Given the description of an element on the screen output the (x, y) to click on. 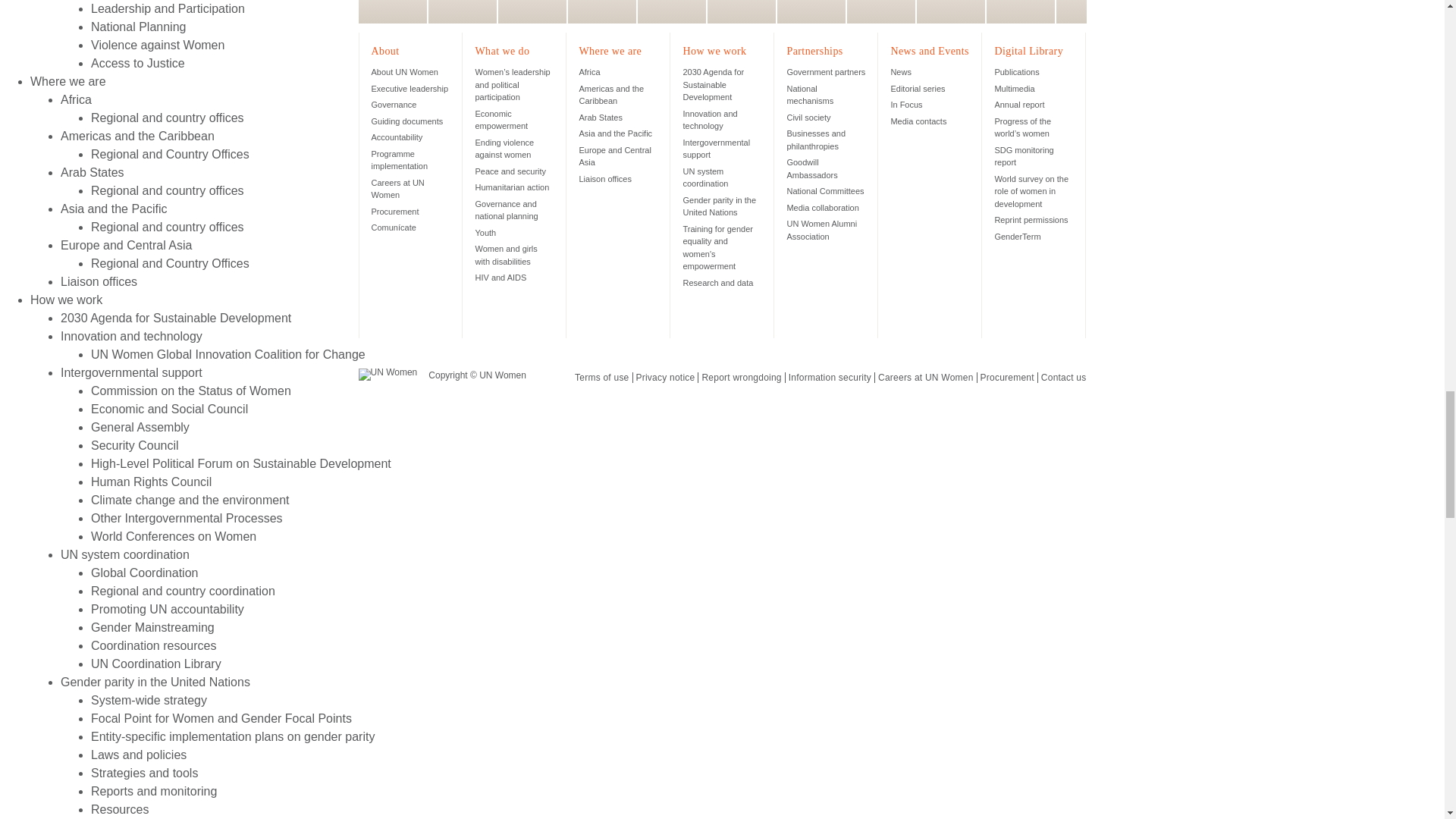
Arab States (599, 117)
Arab States (92, 172)
UN Women (387, 374)
World survey on the role of women in development (1031, 191)
Donate (1019, 11)
